Given the description of an element on the screen output the (x, y) to click on. 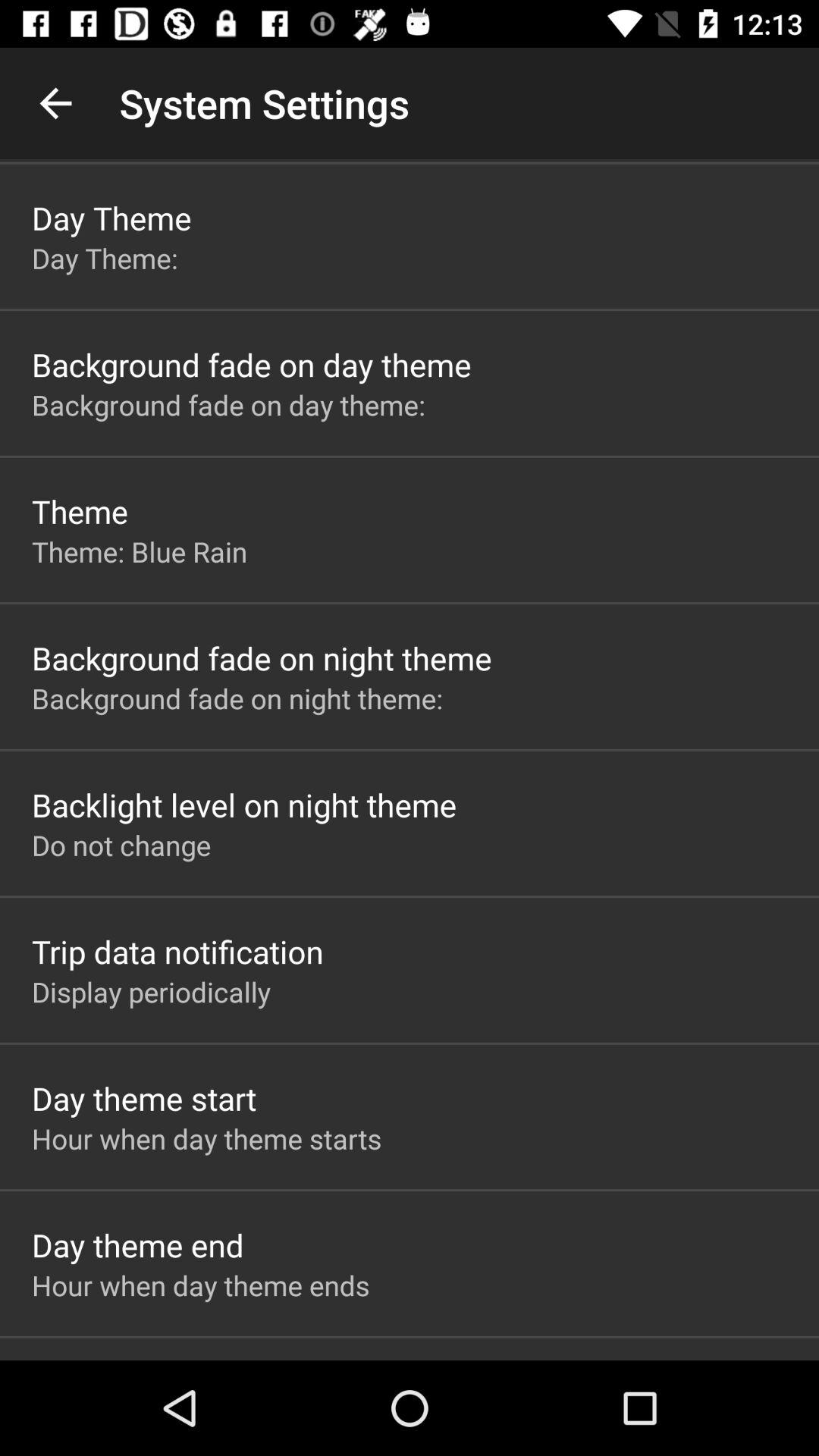
open icon above day theme start (150, 991)
